Given the description of an element on the screen output the (x, y) to click on. 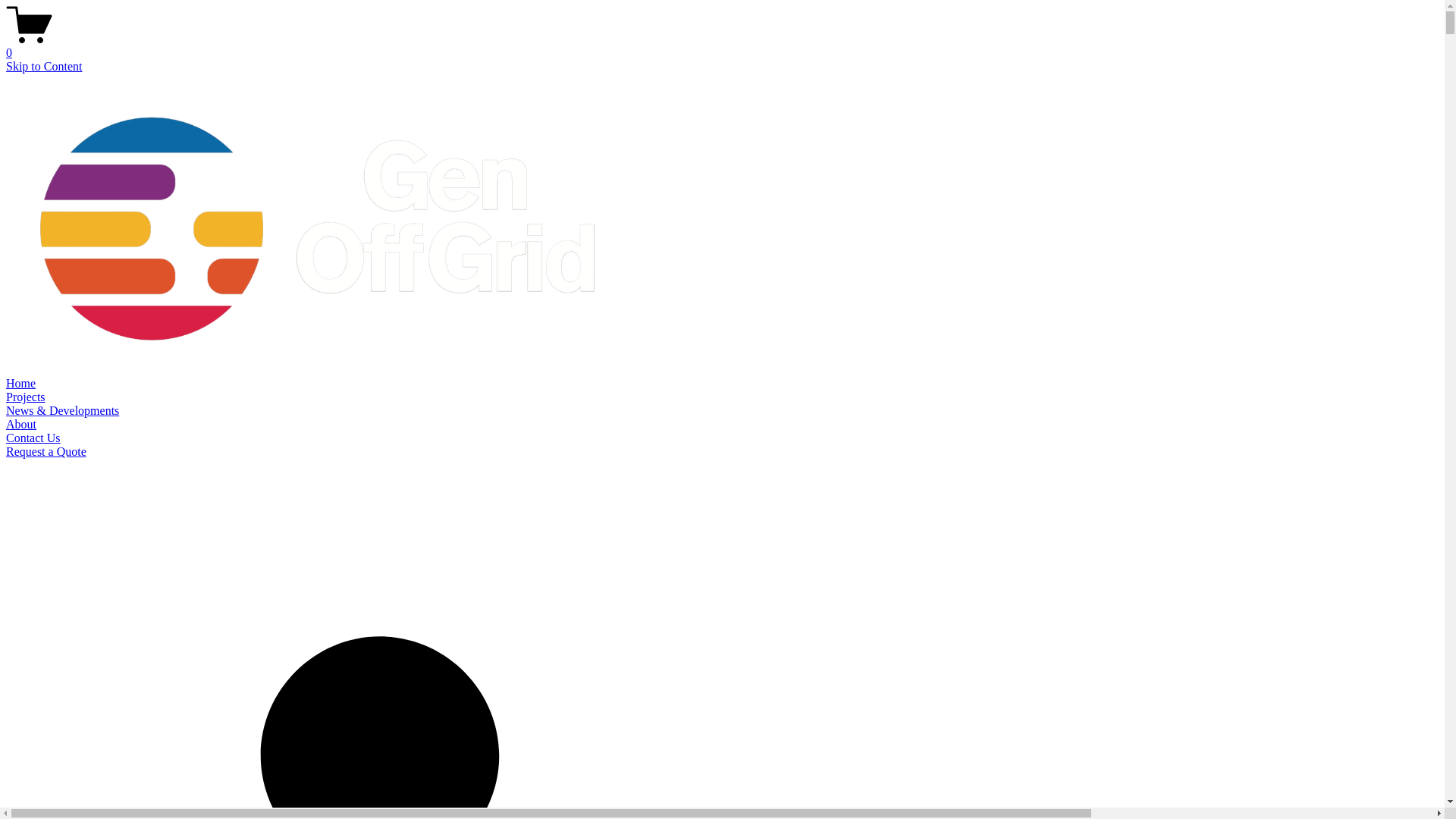
0 Element type: text (722, 45)
Request a Quote Element type: text (46, 451)
About Element type: text (21, 423)
Home Element type: text (20, 382)
News & Developments Element type: text (62, 410)
Contact Us Element type: text (33, 437)
Projects Element type: text (25, 396)
Skip to Content Element type: text (43, 65)
